Given the description of an element on the screen output the (x, y) to click on. 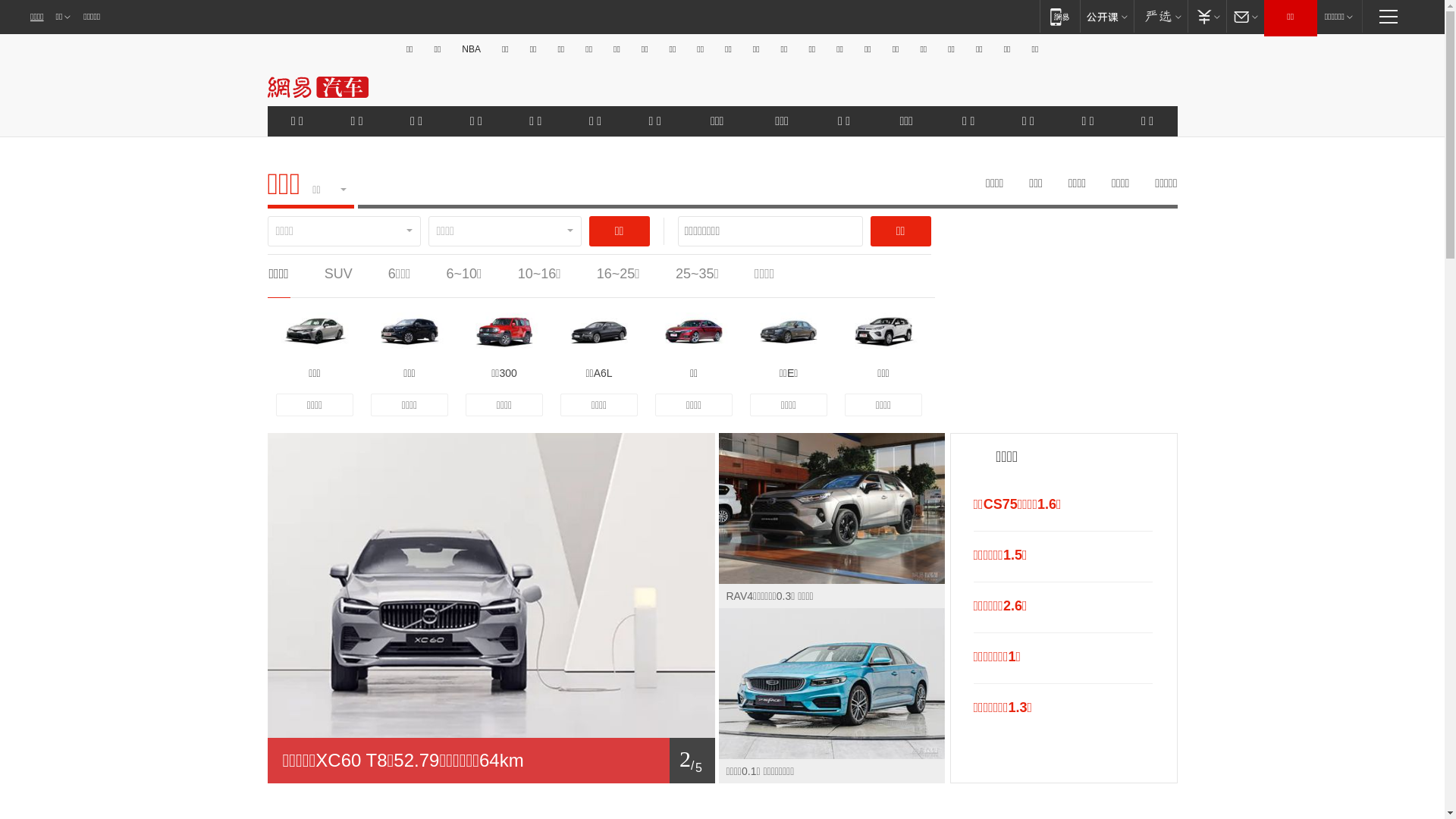
SUV Element type: text (338, 273)
1/ 5 Element type: text (490, 760)
NBA Element type: text (471, 48)
